Given the description of an element on the screen output the (x, y) to click on. 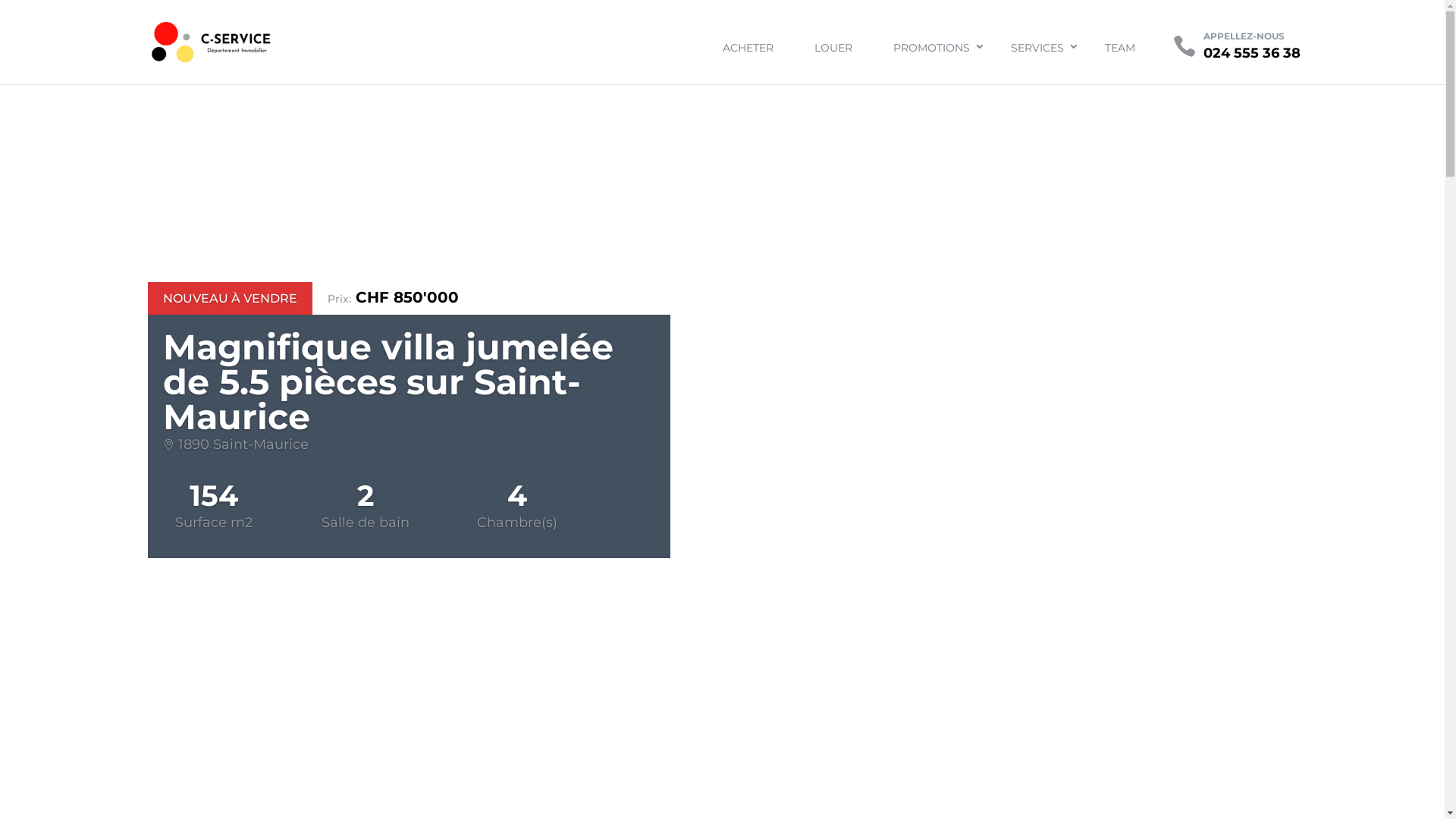
6 Element type: text (754, 764)
3 Element type: text (715, 764)
SERVICES Element type: text (1036, 47)
PROMOTIONS Element type: text (931, 47)
2 Element type: text (703, 764)
4 Element type: text (728, 764)
ACHETER Element type: text (746, 47)
TEAM Element type: text (1111, 47)
LOUER Element type: text (833, 47)
1 Element type: text (689, 764)
5 Element type: text (740, 764)
